Given the description of an element on the screen output the (x, y) to click on. 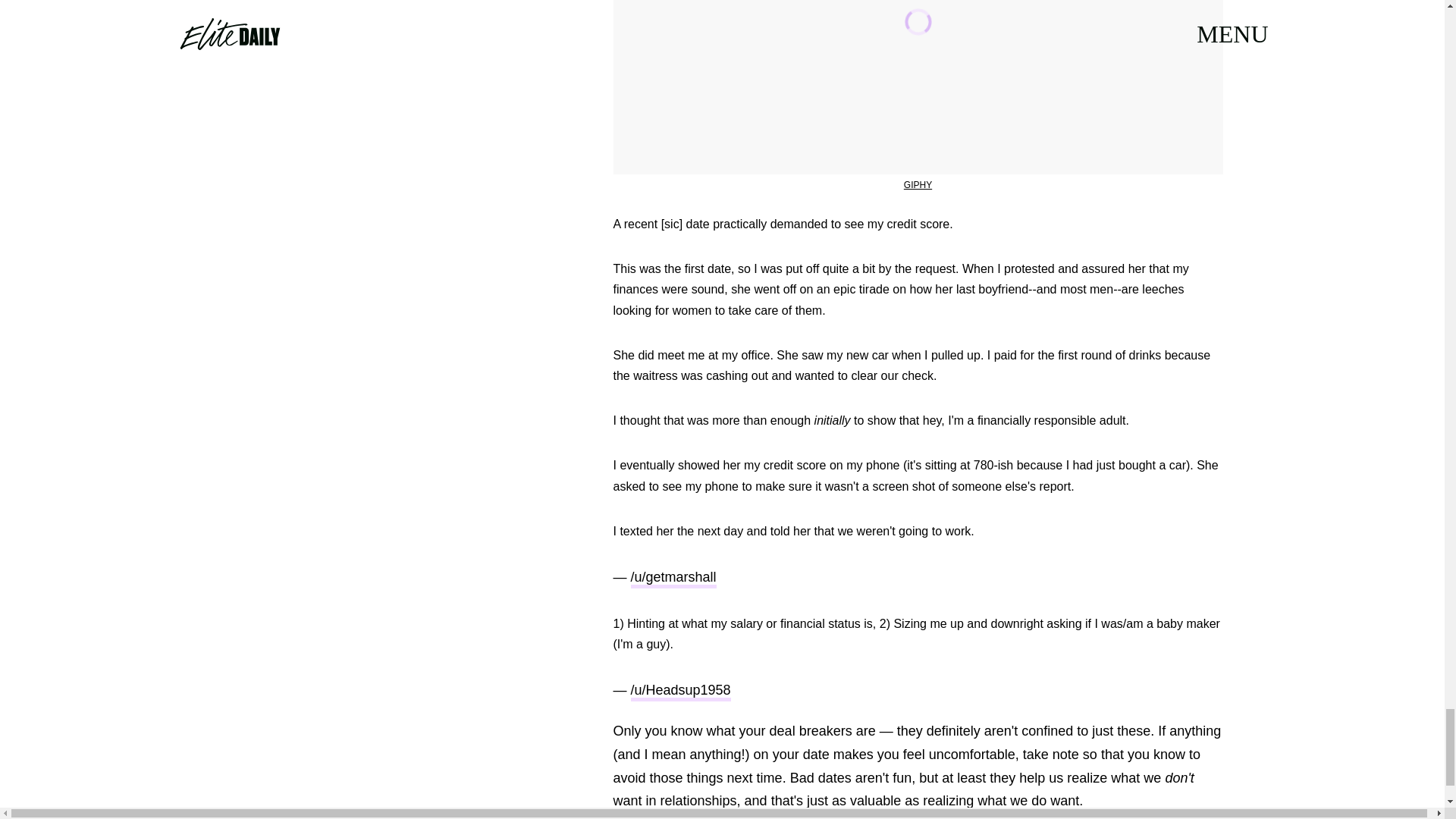
GIPHY (917, 184)
